Given the description of an element on the screen output the (x, y) to click on. 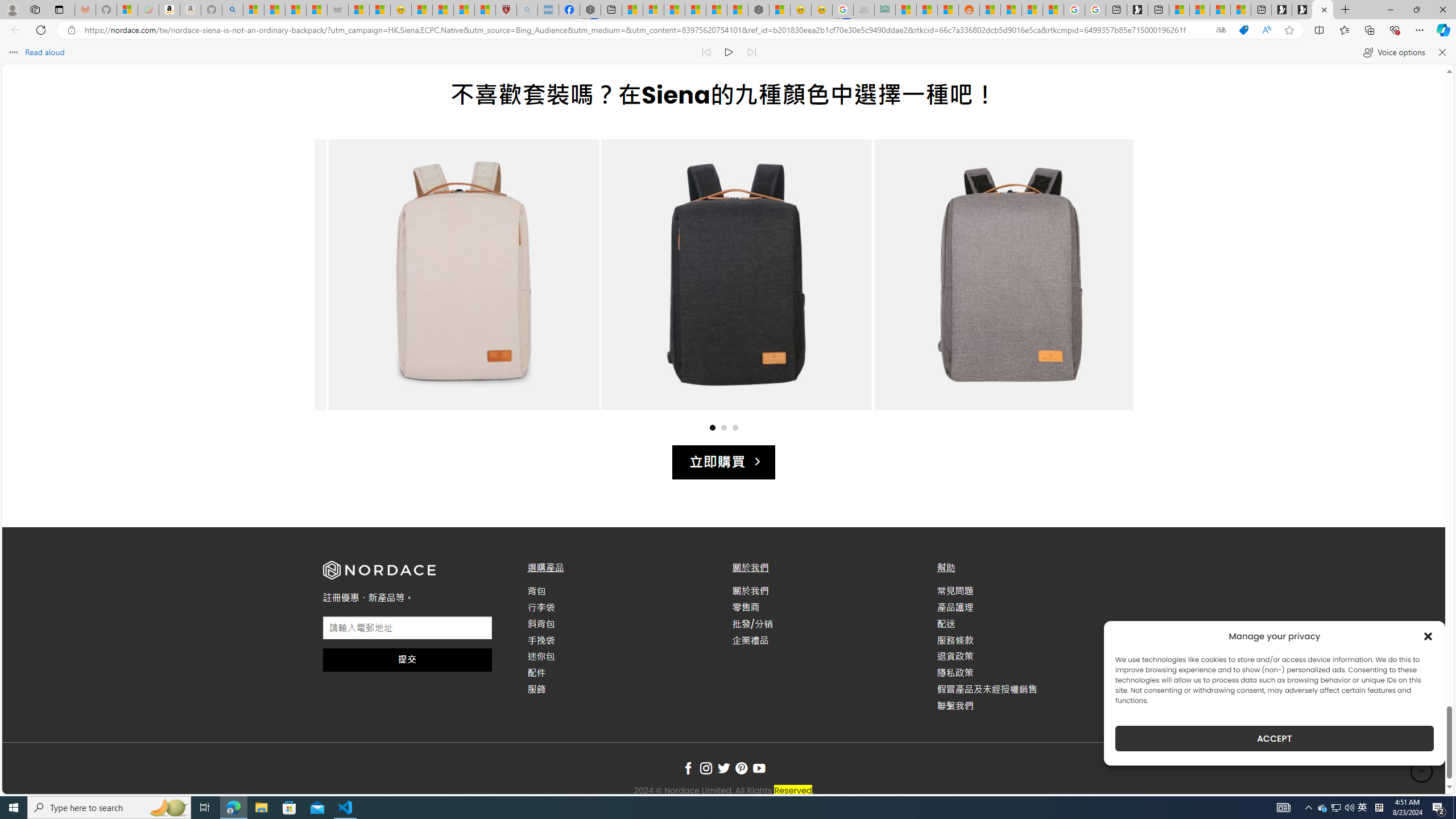
Stocks - MSN (316, 9)
ACCEPT (1274, 738)
Next (1102, 285)
Nordace - Nordace Siena Is Not An Ordinary Backpack (1322, 9)
Recipes - MSN (421, 9)
